Given the description of an element on the screen output the (x, y) to click on. 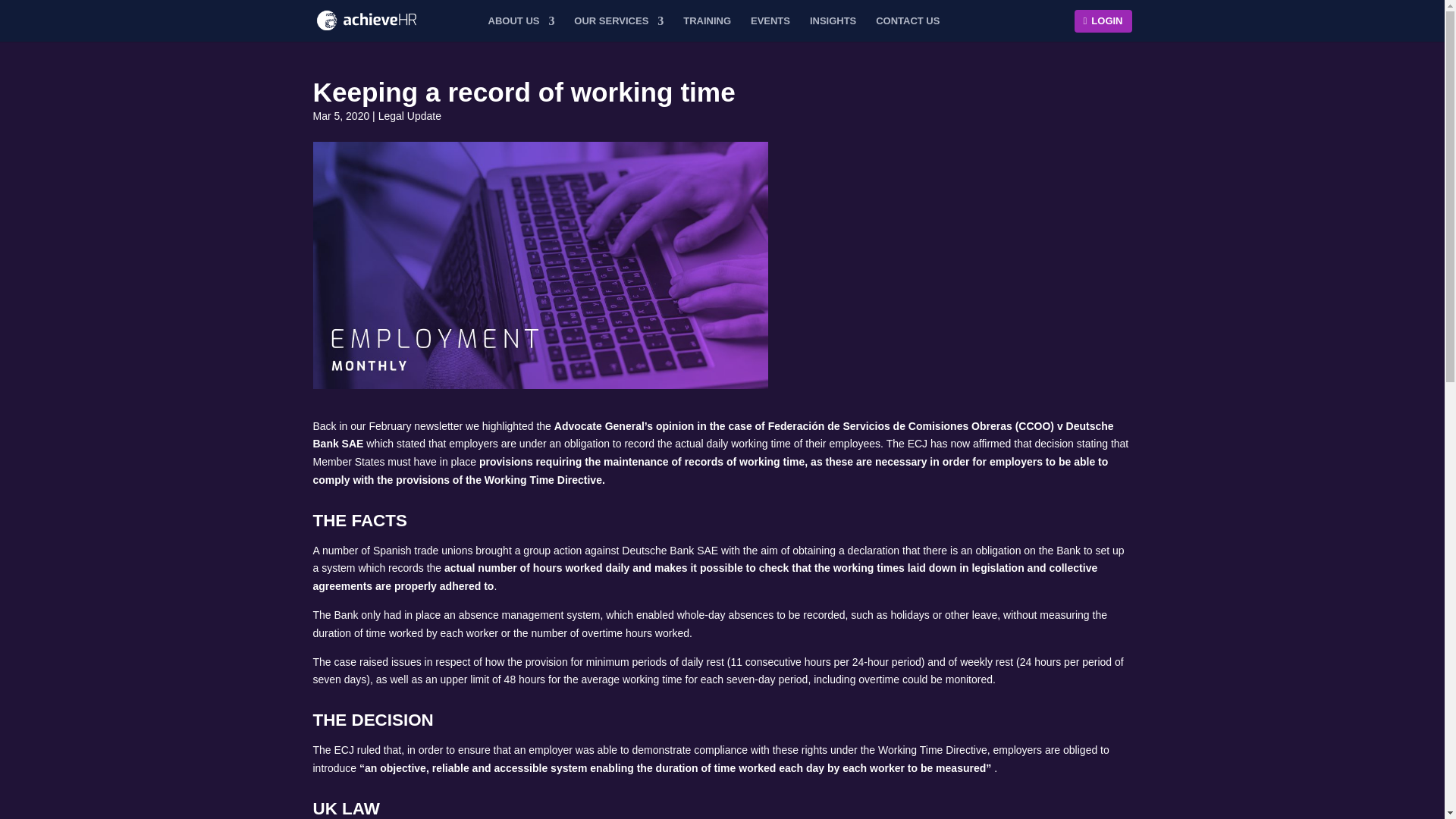
LOGIN (1102, 20)
ABOUT US (520, 20)
INSIGHTS (832, 20)
OUR SERVICES (618, 20)
CONTACT US (907, 20)
Legal Update (409, 115)
EVENTS (770, 20)
TRAINING (706, 20)
